Given the description of an element on the screen output the (x, y) to click on. 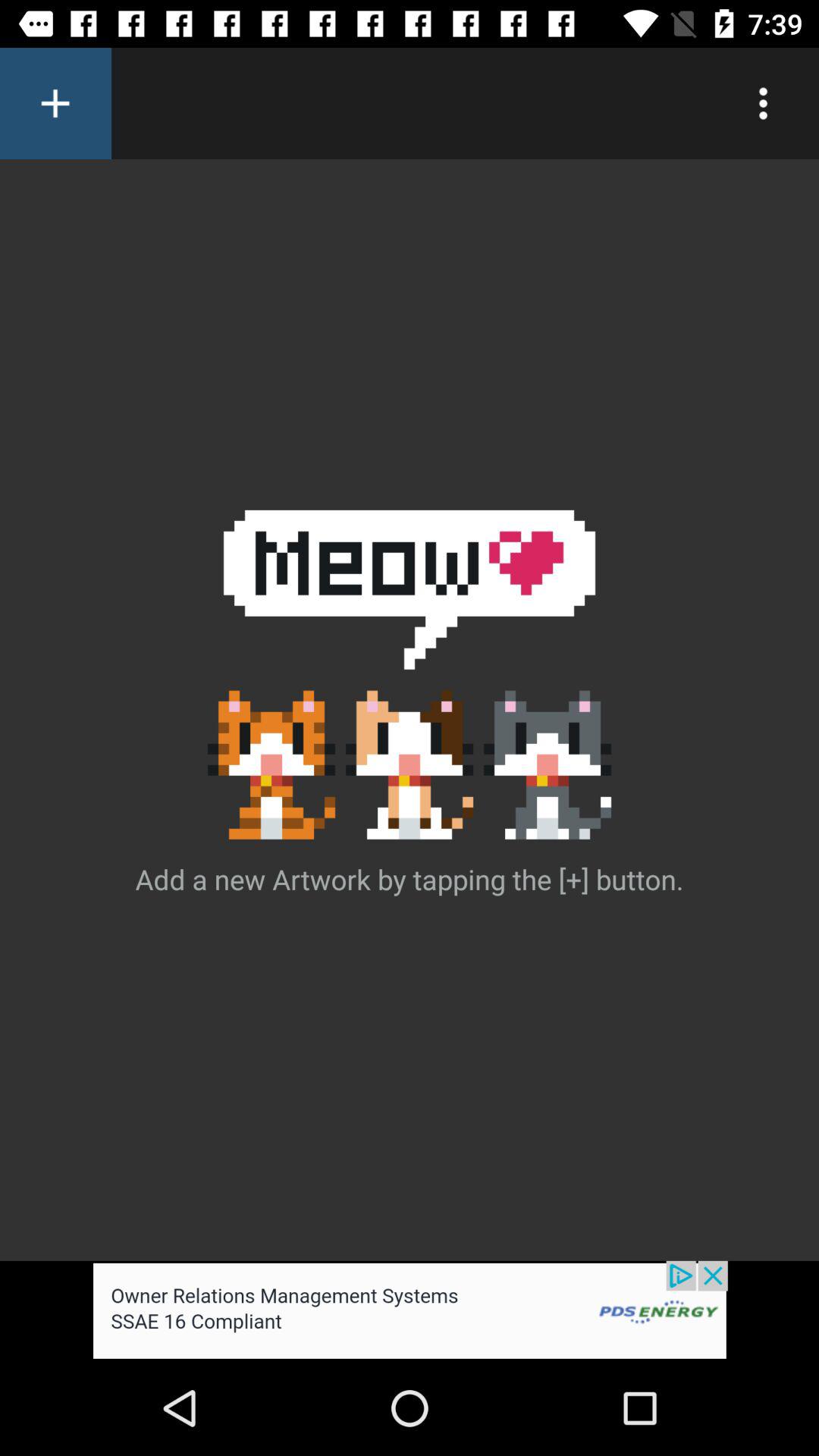
go to advert (409, 1310)
